Given the description of an element on the screen output the (x, y) to click on. 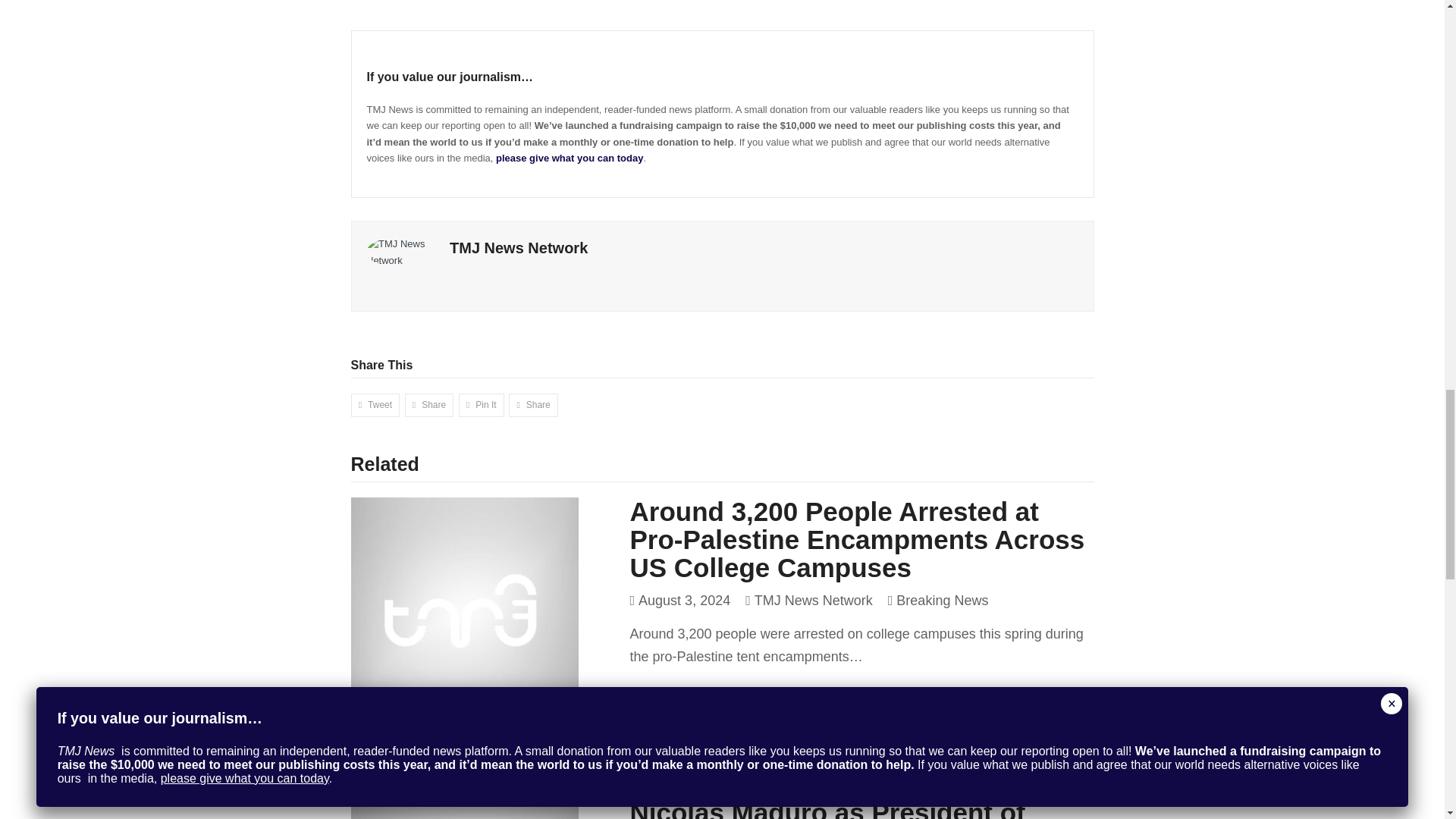
TMJ News Network (518, 247)
